Given the description of an element on the screen output the (x, y) to click on. 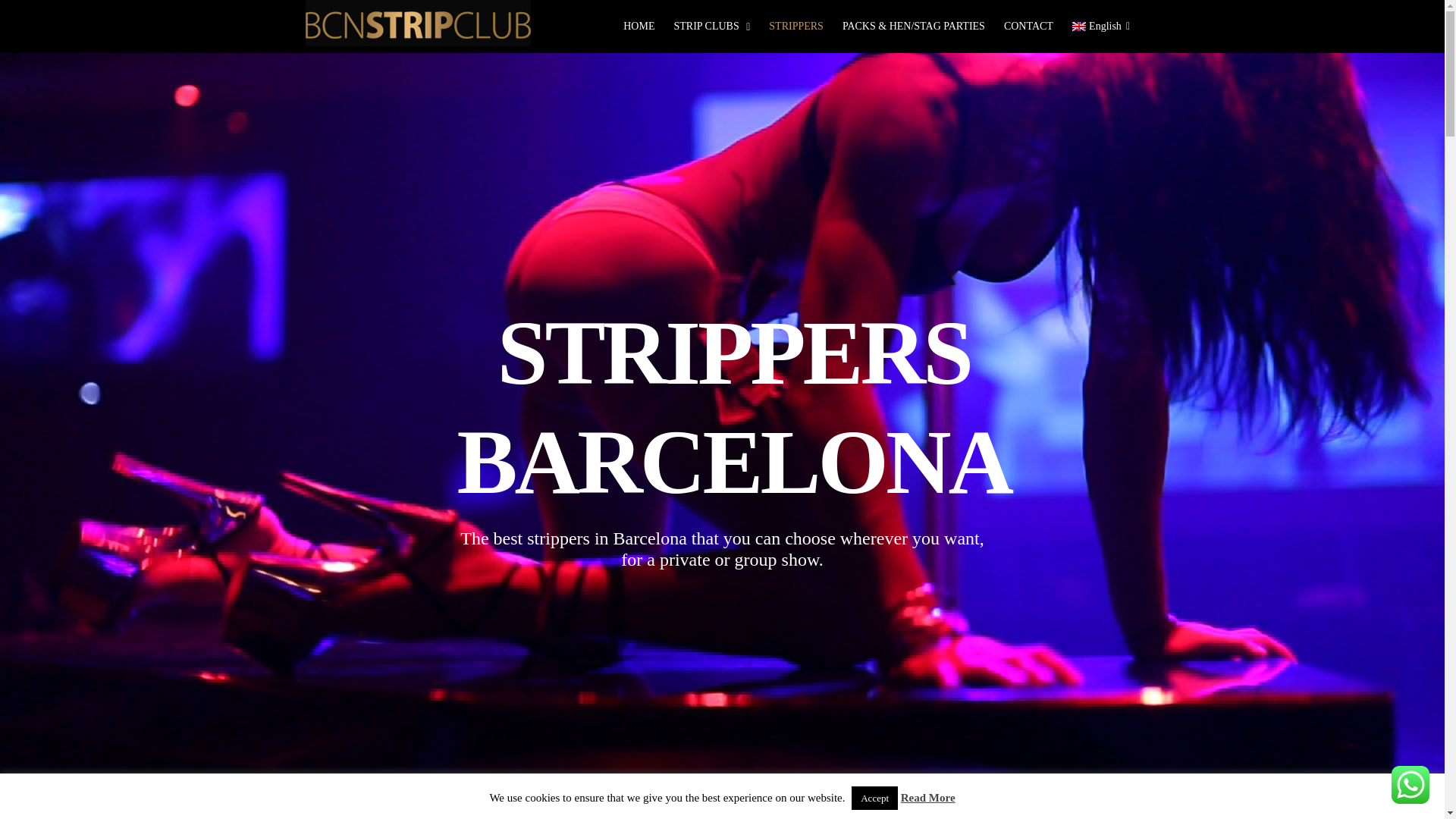
STRIP CLUBS (711, 26)
HOME (638, 26)
English (1100, 26)
CONTACT (1028, 26)
STRIPPERS (796, 26)
English (1100, 26)
